Given the description of an element on the screen output the (x, y) to click on. 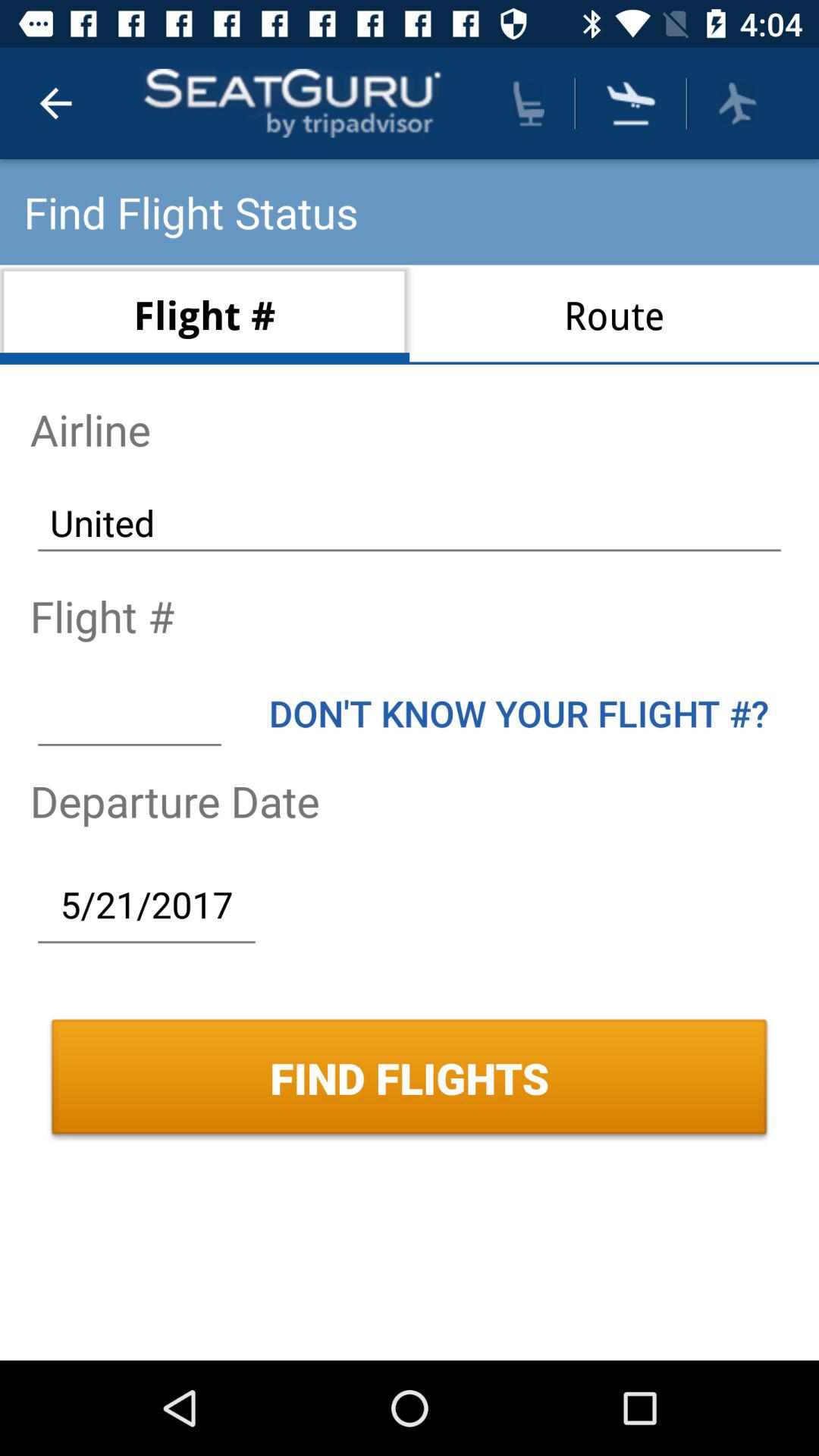
click to airplane mode (737, 103)
